Given the description of an element on the screen output the (x, y) to click on. 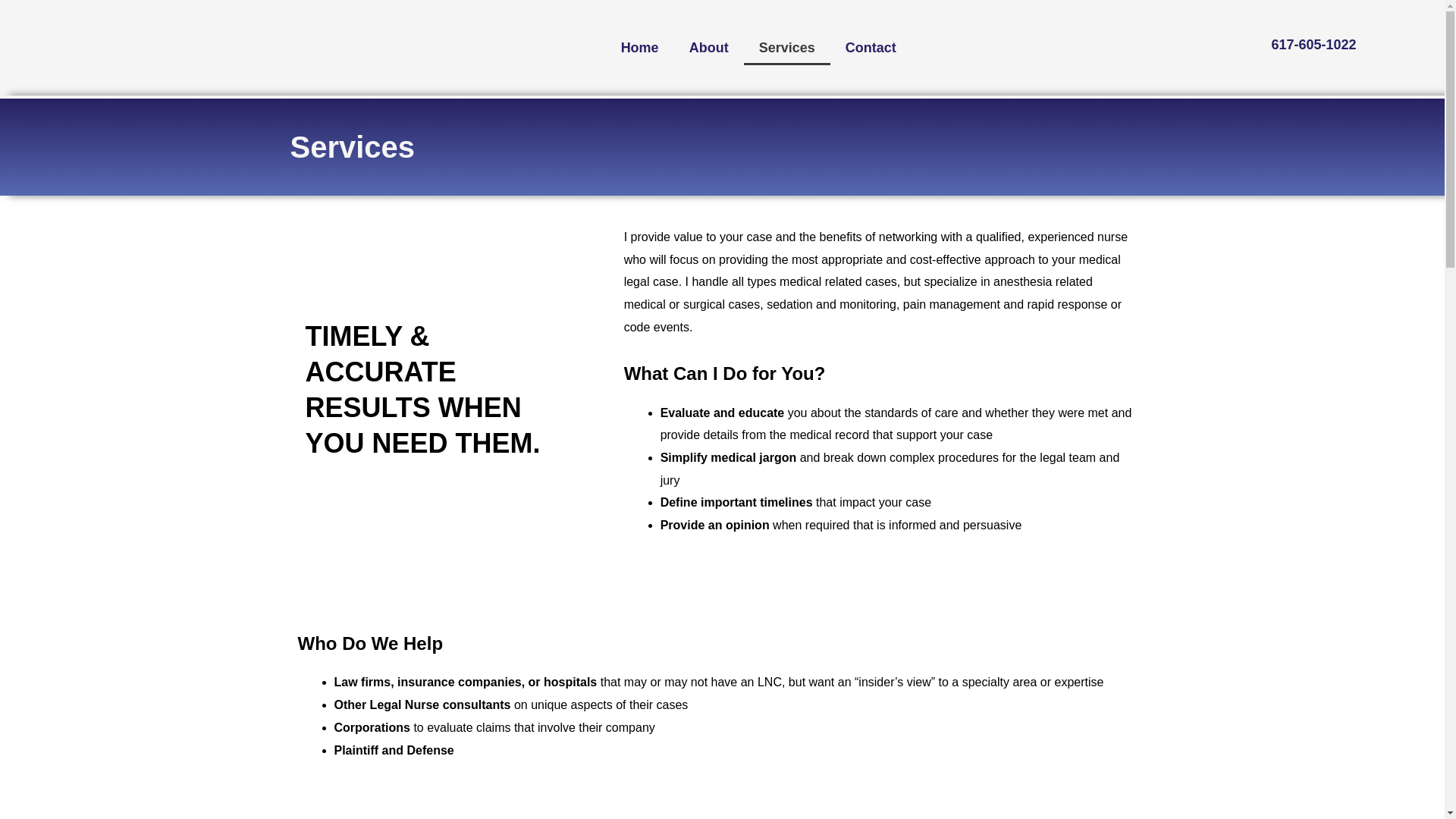
About (709, 47)
Home (639, 47)
Contact (870, 47)
Services (786, 47)
